Given the description of an element on the screen output the (x, y) to click on. 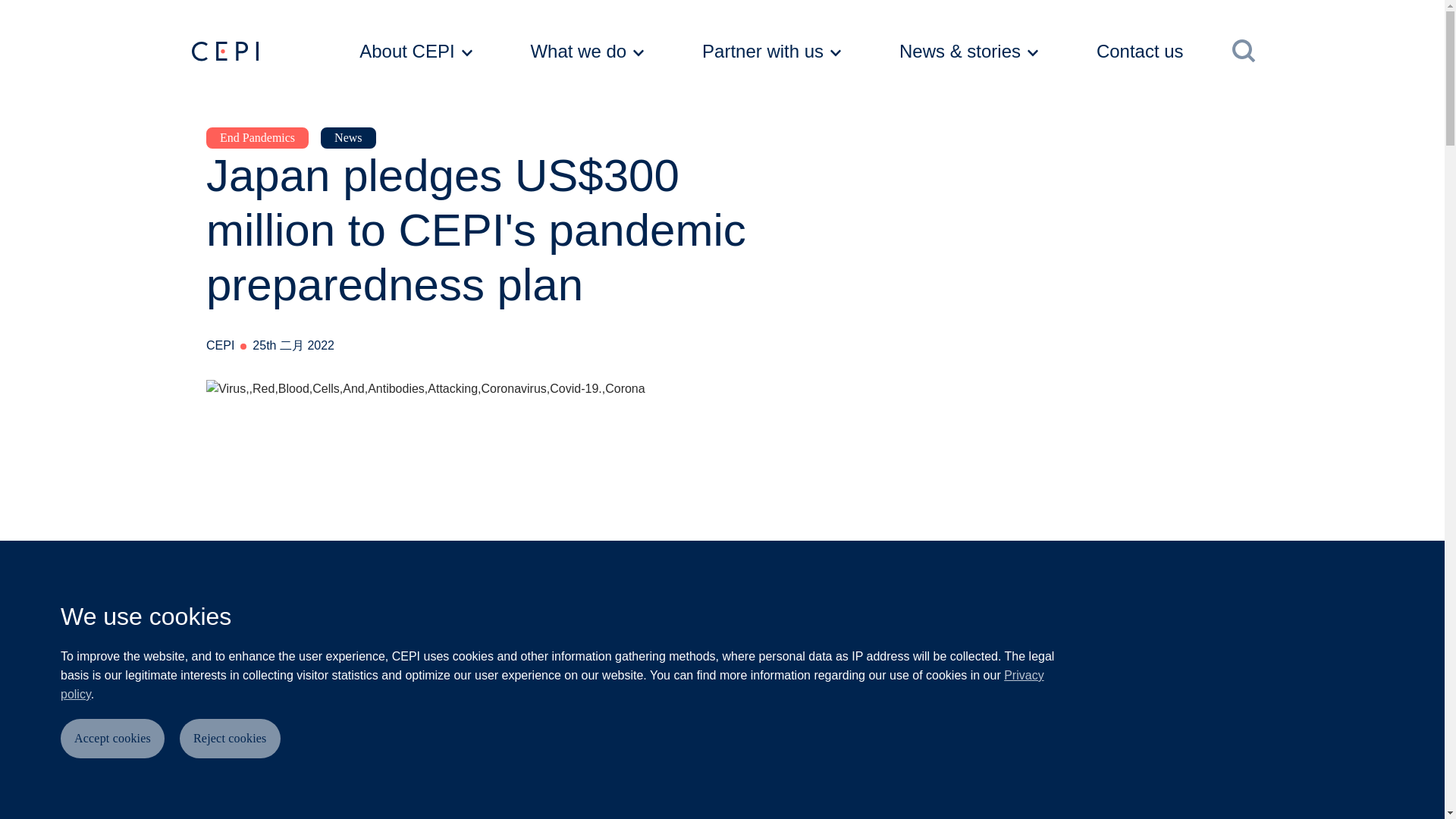
Contact us (1156, 51)
CEPI (223, 51)
What we do (587, 51)
Partner with us (771, 51)
About CEPI (415, 51)
CEPI (265, 51)
